Given the description of an element on the screen output the (x, y) to click on. 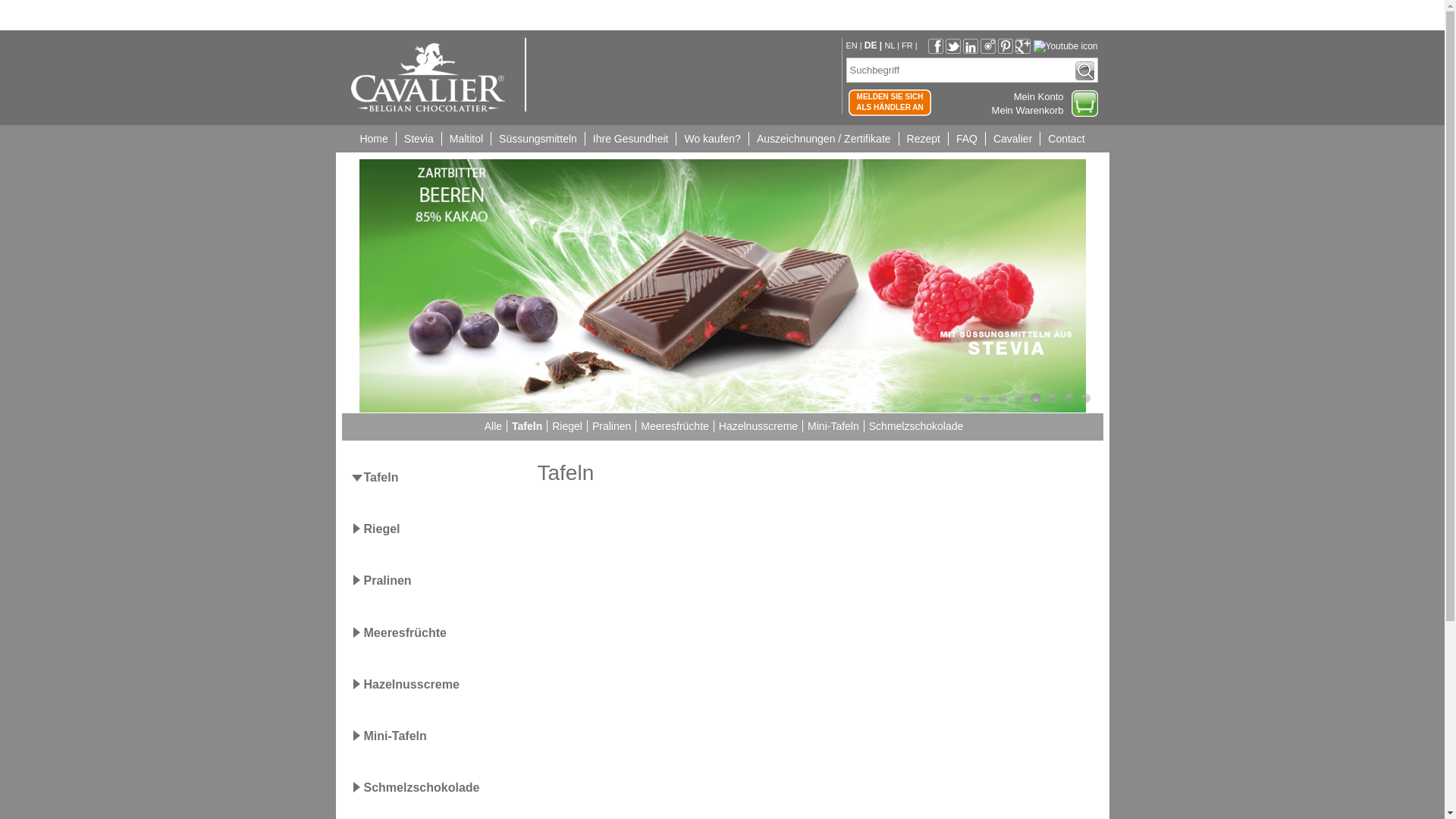
2 Element type: text (985, 397)
Tafeln Element type: text (524, 426)
Auszeichnungen / Zertifikate Element type: text (823, 138)
FAQ Element type: text (966, 138)
Schmelzschokolade Element type: text (422, 787)
Ihre Gesundheit Element type: text (630, 138)
6 Element type: text (1052, 397)
1 Element type: text (968, 397)
Cavalier Element type: text (1012, 138)
Schmelzschokolade Element type: text (914, 426)
DE | Element type: text (874, 45)
Rezept Element type: text (922, 138)
Home Element type: text (373, 138)
Riegel Element type: text (382, 528)
Wo kaufen? Element type: text (711, 138)
Stevia Element type: text (418, 138)
Mein Konto Element type: text (1038, 96)
Riegel Element type: text (564, 426)
NL | Element type: text (892, 45)
5 Element type: text (1035, 397)
Mini-Tafeln Element type: text (396, 735)
4 Element type: text (1018, 397)
Hazelnusscreme Element type: text (756, 426)
Maltitol Element type: text (465, 138)
Contact Element type: text (1065, 138)
8 Element type: text (1085, 397)
Tafeln Element type: text (382, 477)
Pralinen Element type: text (609, 426)
Alle Element type: text (491, 426)
Hazelnusscreme Element type: text (412, 684)
3 Element type: text (1002, 397)
FR | Element type: text (909, 45)
Mini-Tafeln Element type: text (831, 426)
7 Element type: text (1068, 397)
EN | Element type: text (855, 45)
Pralinen Element type: text (388, 580)
